Given the description of an element on the screen output the (x, y) to click on. 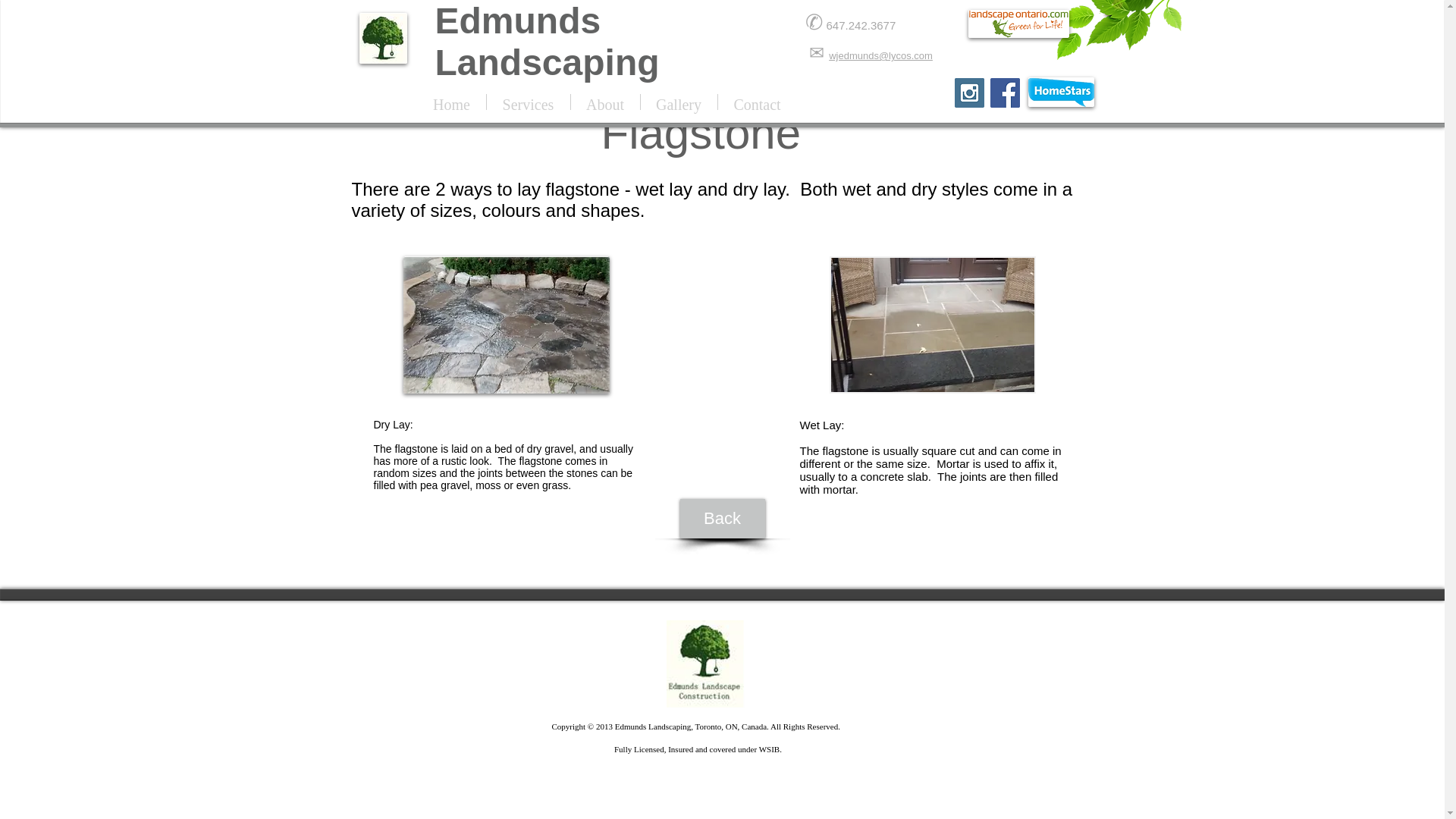
Services (528, 101)
Home (450, 101)
phone pics oct 2014 147.jpg (506, 324)
Gallery (678, 101)
About (604, 101)
Contact (756, 101)
Back (721, 518)
